Given the description of an element on the screen output the (x, y) to click on. 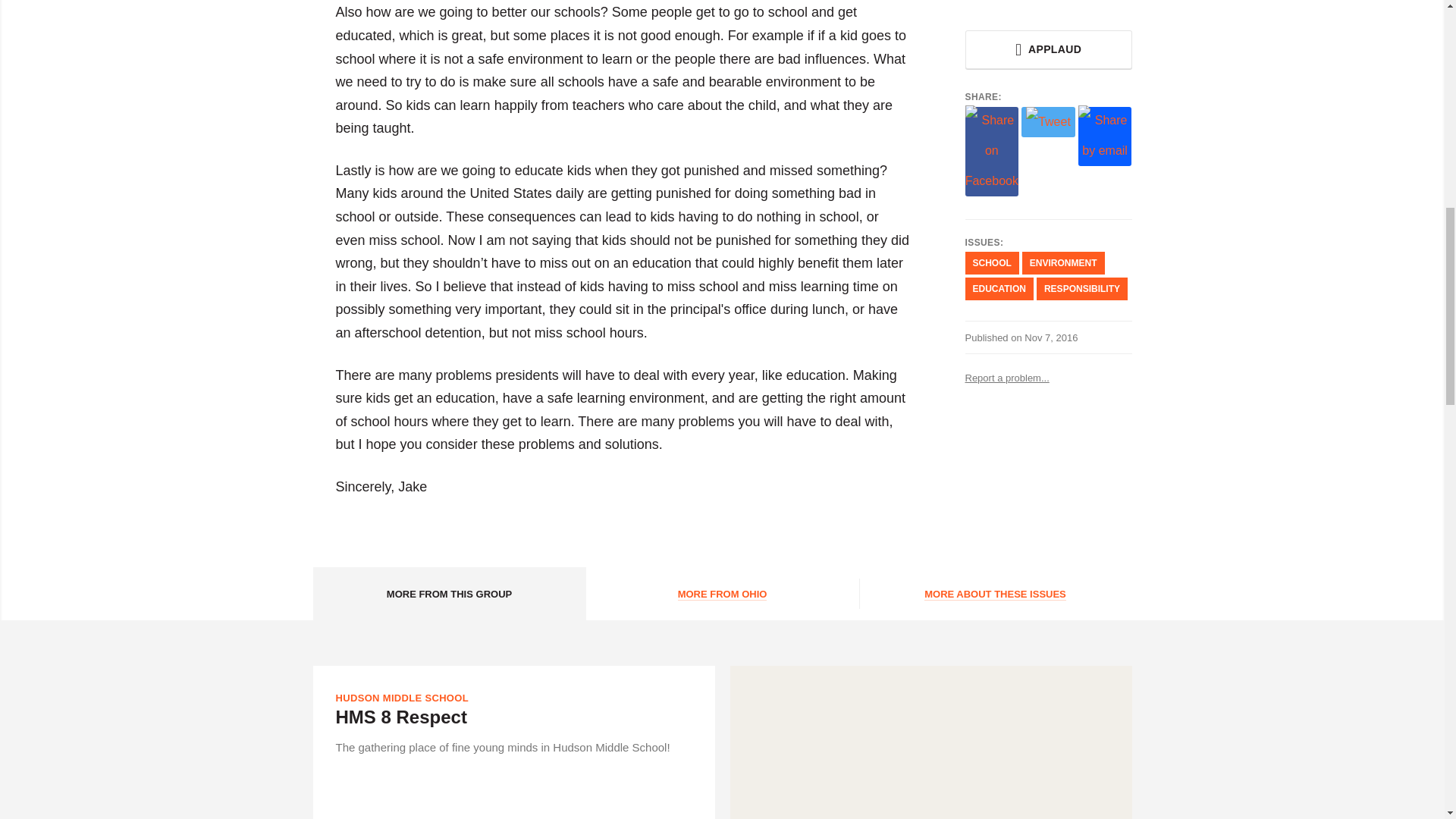
MORE FROM THIS GROUP (449, 593)
MORE ABOUT THESE ISSUES (995, 593)
HUDSON MIDDLE SCHOOL (401, 697)
MORE FROM OHIO (722, 593)
